Given the description of an element on the screen output the (x, y) to click on. 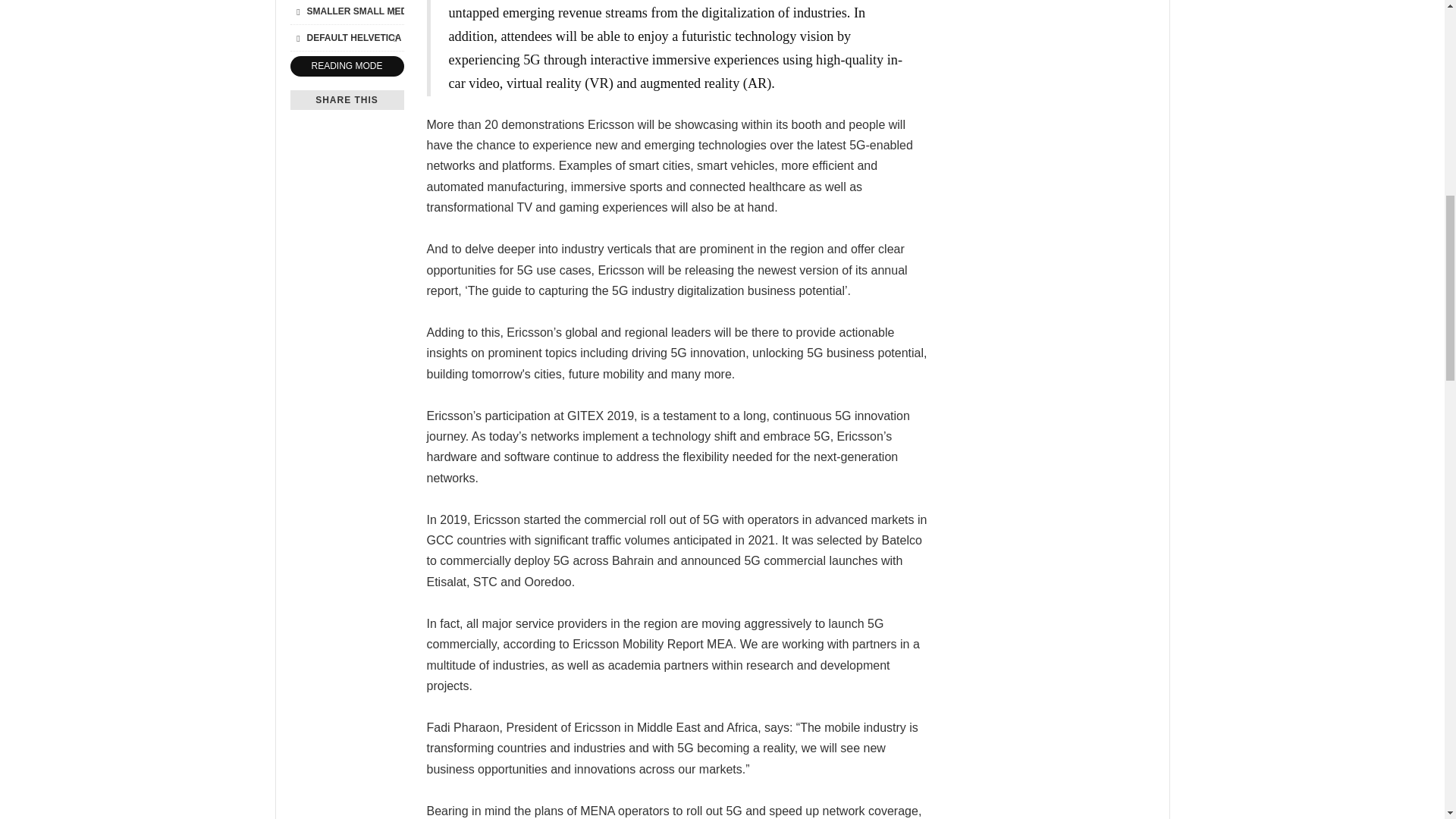
Smaller Font (297, 11)
Bigger Font (395, 11)
Previous Font Style (297, 37)
Next Font Style (395, 37)
Reading Mode (346, 66)
